Given the description of an element on the screen output the (x, y) to click on. 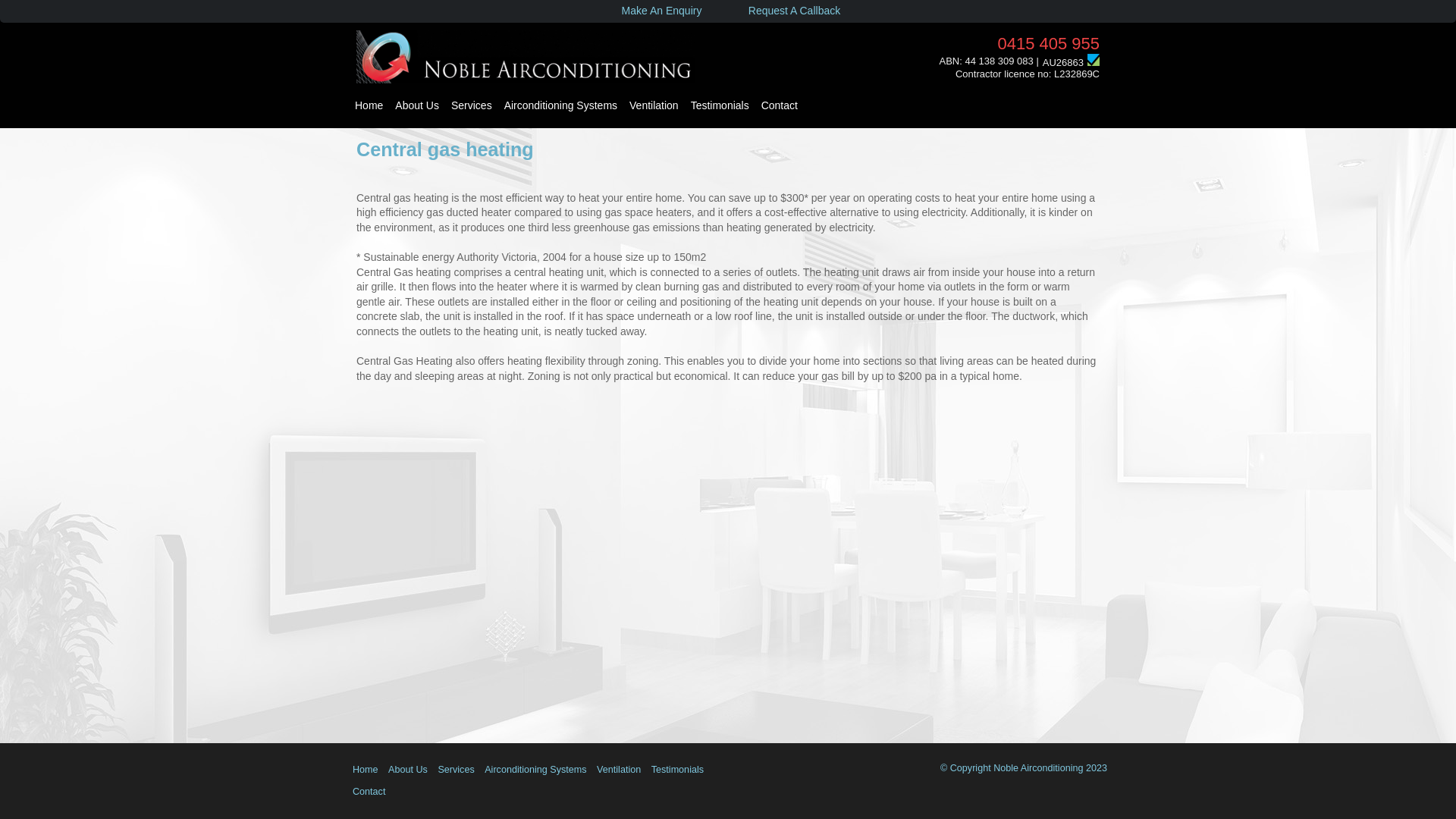
Ventilation Element type: text (618, 770)
Services Element type: text (455, 770)
Home Element type: text (365, 770)
Contact Element type: text (368, 792)
Testimonials Element type: text (719, 106)
Make An Enquiry Element type: text (661, 11)
About Us Element type: text (416, 106)
Request A Callback Element type: text (794, 11)
About Us Element type: text (407, 770)
Airconditioning Systems Element type: text (534, 770)
Testimonials Element type: text (677, 770)
Services Element type: text (471, 106)
Airconditioning Systems Element type: text (560, 106)
Contact Element type: text (779, 106)
Home Element type: text (368, 106)
Ventilation Element type: text (654, 106)
